Given the description of an element on the screen output the (x, y) to click on. 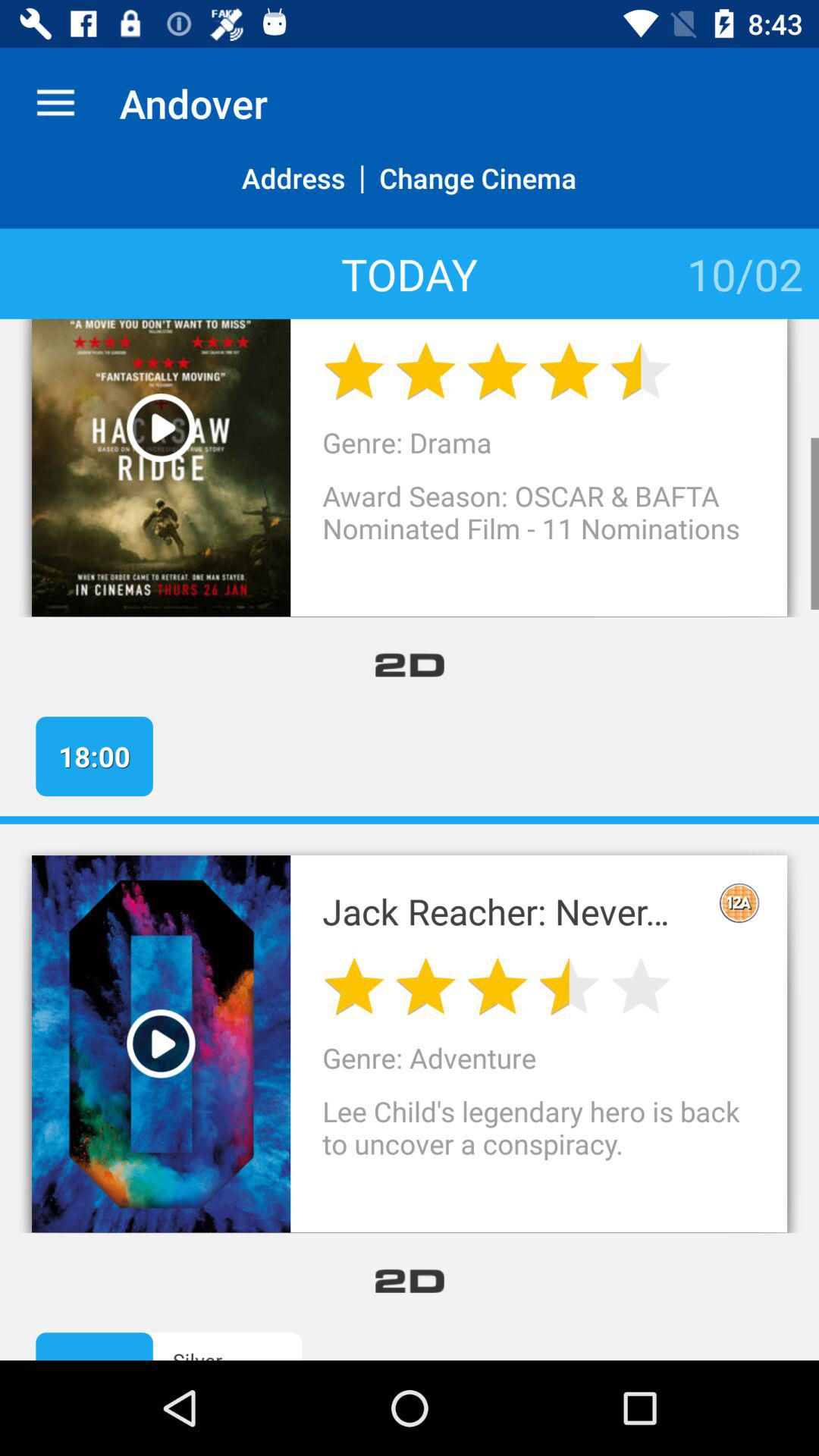
select the item next to the jack reacher never item (739, 903)
